Given the description of an element on the screen output the (x, y) to click on. 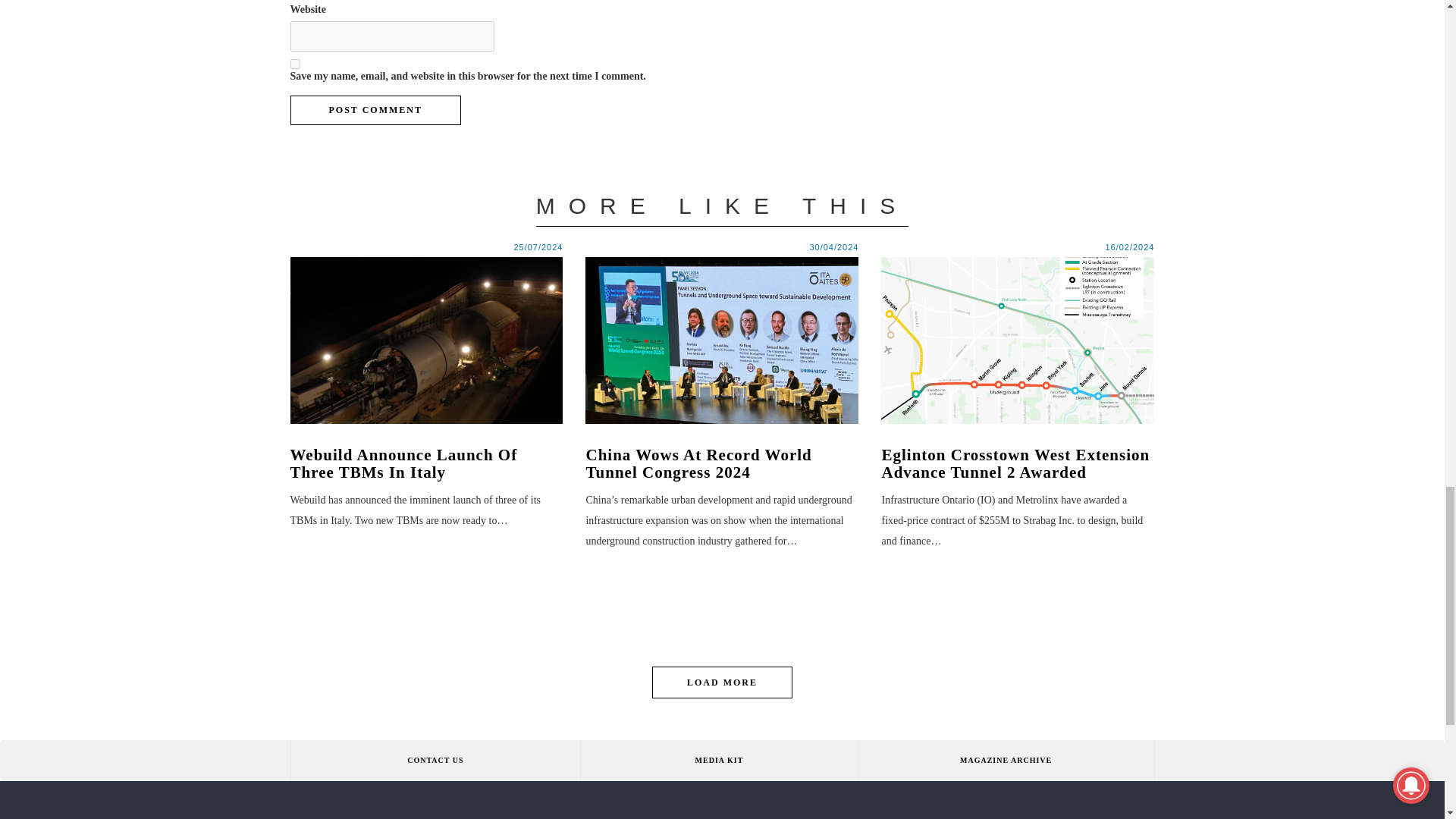
Webuild Announce Launch Of Three TBMs In Italy (425, 463)
Post Comment (374, 110)
Post Comment (374, 110)
Webuild announce launch of three TBMs in Italy (425, 340)
yes (294, 63)
